Given the description of an element on the screen output the (x, y) to click on. 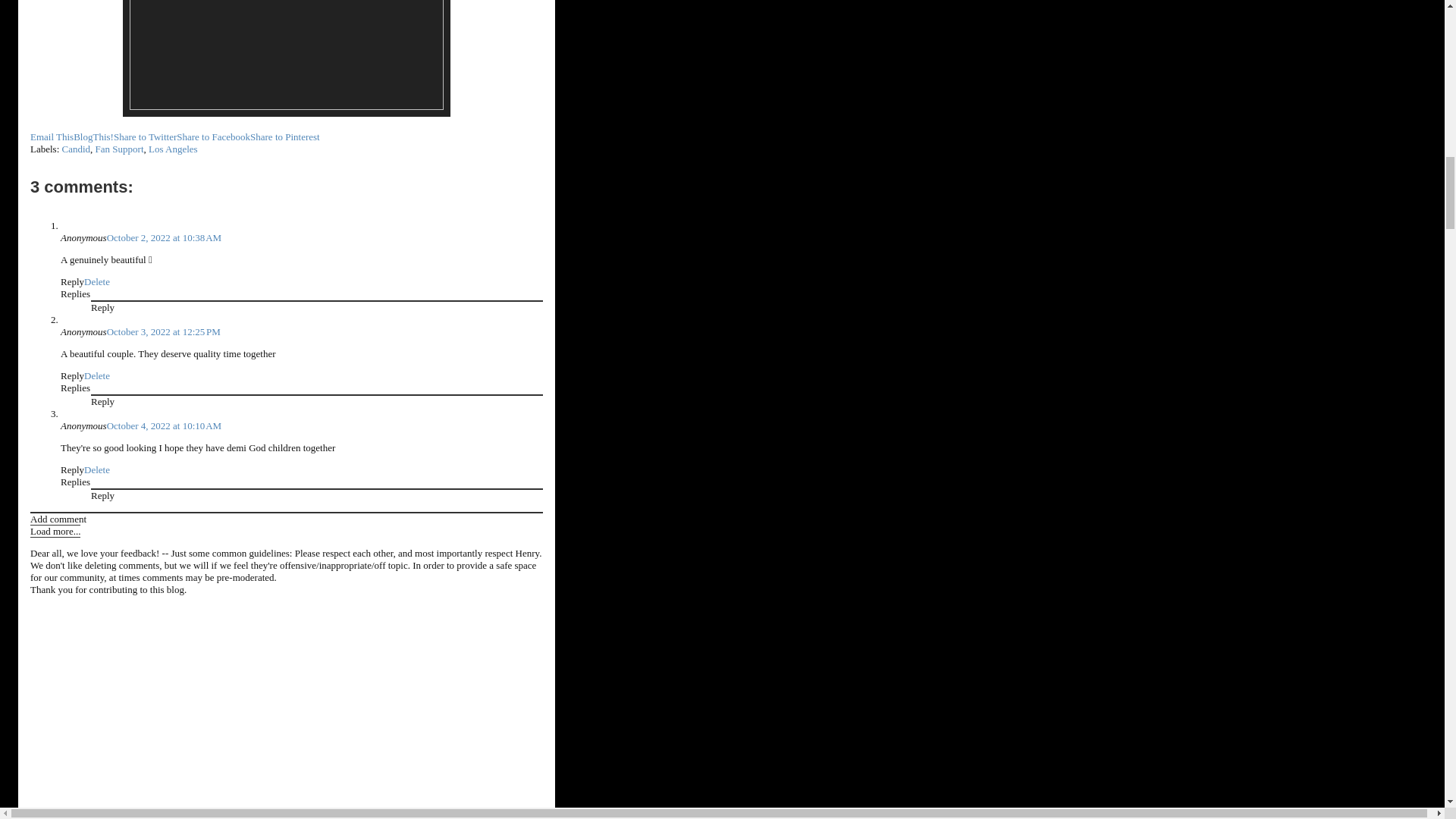
Delete (97, 281)
Delete (97, 375)
Replies (75, 387)
Share to Facebook (213, 136)
Email This (52, 136)
Share to Pinterest (285, 136)
Email This (52, 136)
Candid (76, 148)
Replies (75, 481)
Share to Twitter (144, 136)
Add comment (57, 518)
Los Angeles (173, 148)
Fan Support (120, 148)
